Given the description of an element on the screen output the (x, y) to click on. 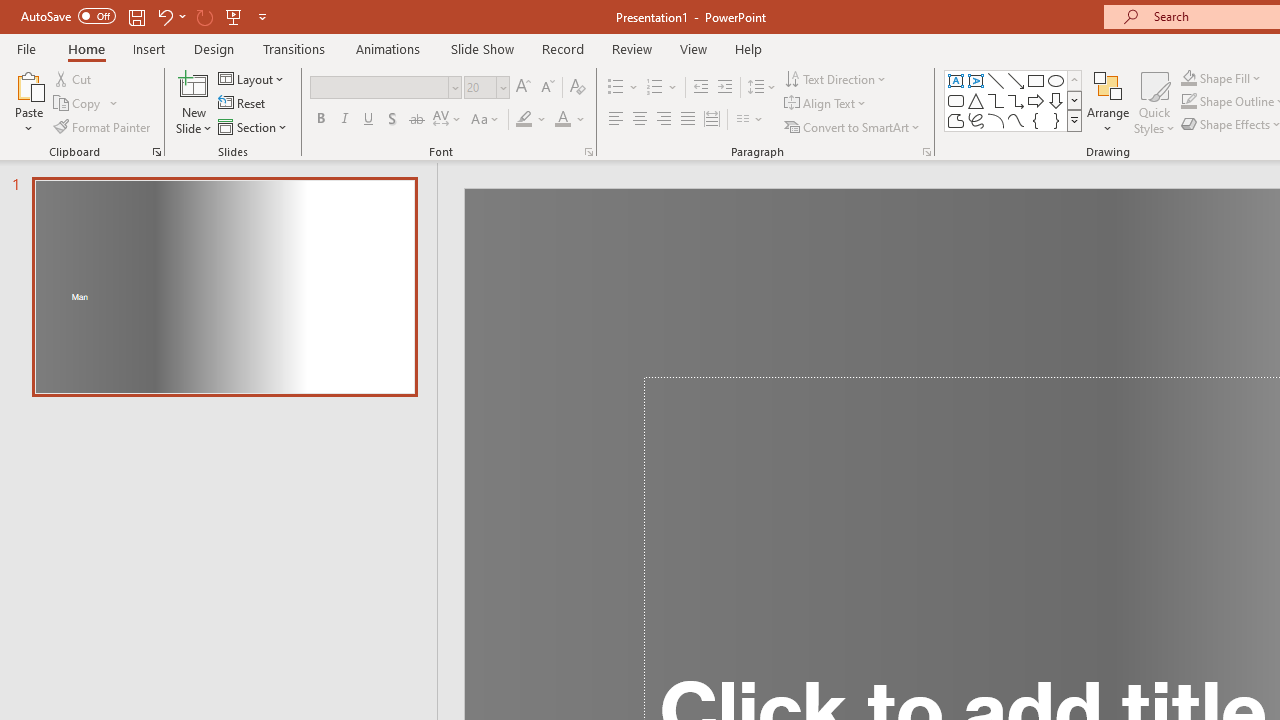
Row up (1074, 79)
New Slide (193, 102)
Bullets (623, 87)
Reset (243, 103)
Shapes (1074, 120)
Redo (204, 15)
Transitions (294, 48)
System (10, 11)
Increase Font Size (522, 87)
Paragraph... (926, 151)
Right Brace (1055, 120)
Paste (28, 84)
Save (136, 15)
Text Direction (836, 78)
Undo (170, 15)
